Given the description of an element on the screen output the (x, y) to click on. 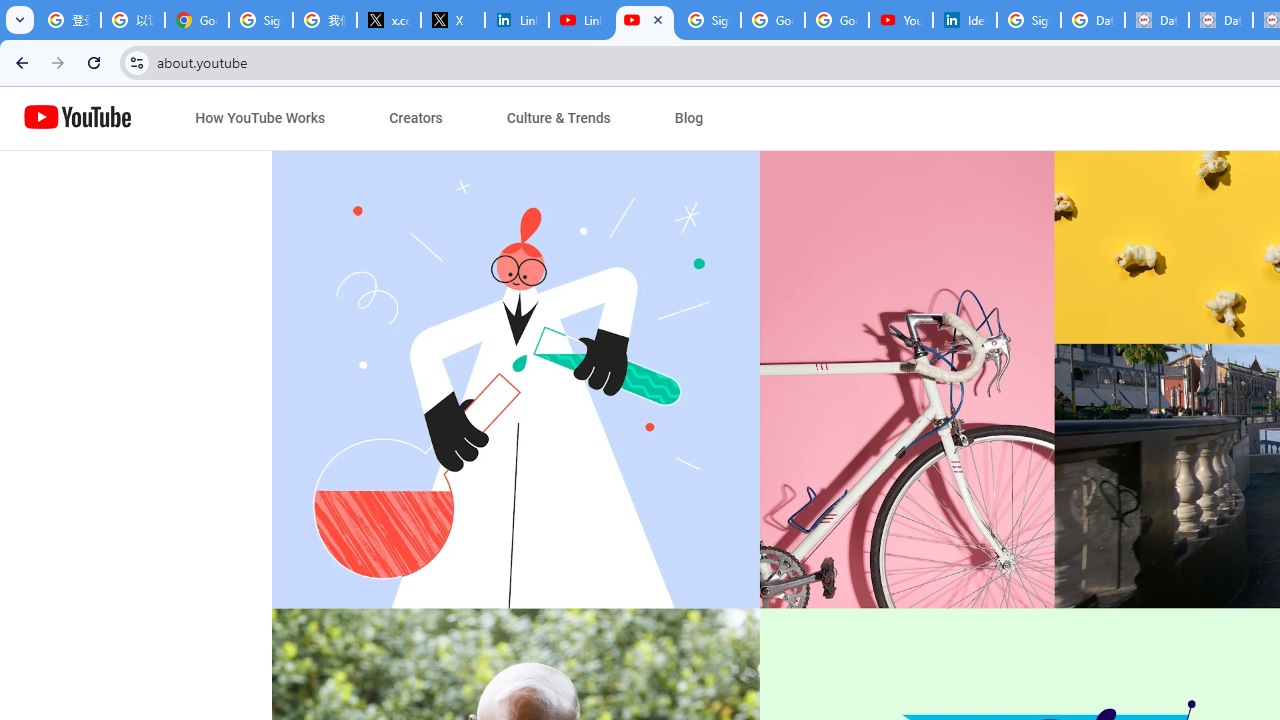
Data Privacy Framework (1157, 20)
Sign in - Google Accounts (261, 20)
Blog (689, 118)
Creators (415, 118)
LinkedIn - YouTube (581, 20)
